Given the description of an element on the screen output the (x, y) to click on. 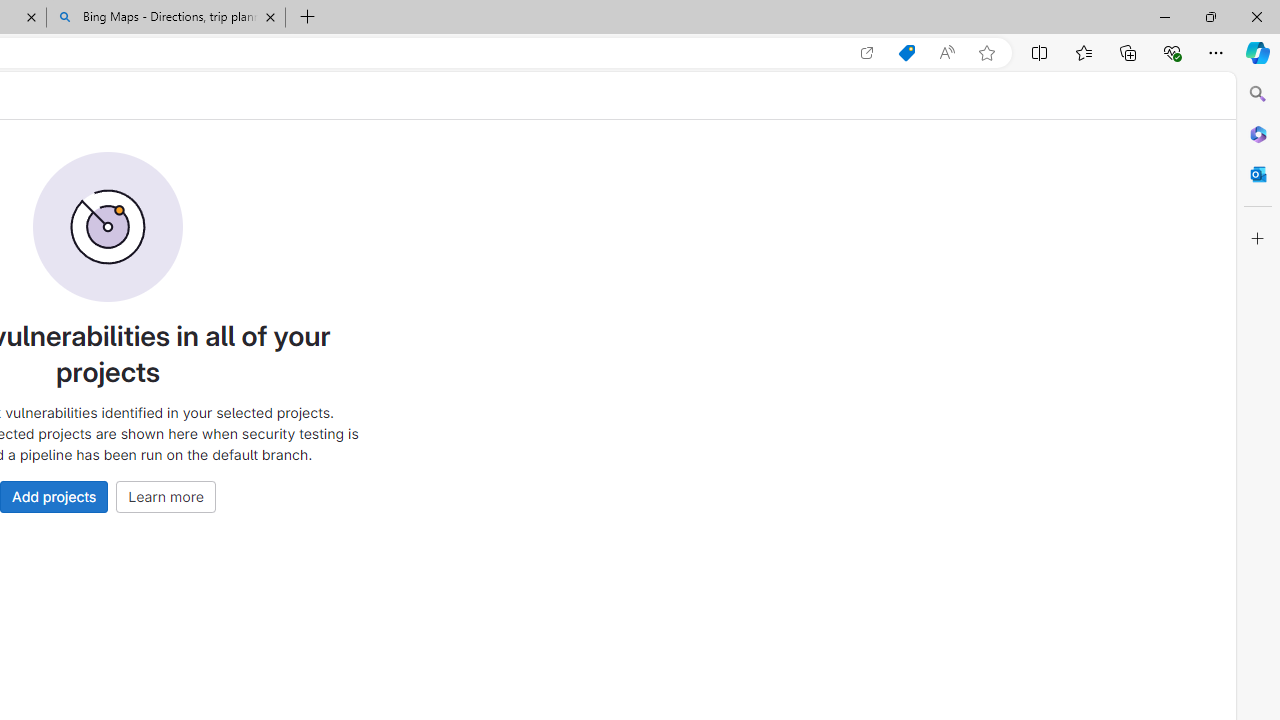
Add projects (54, 496)
